Given the description of an element on the screen output the (x, y) to click on. 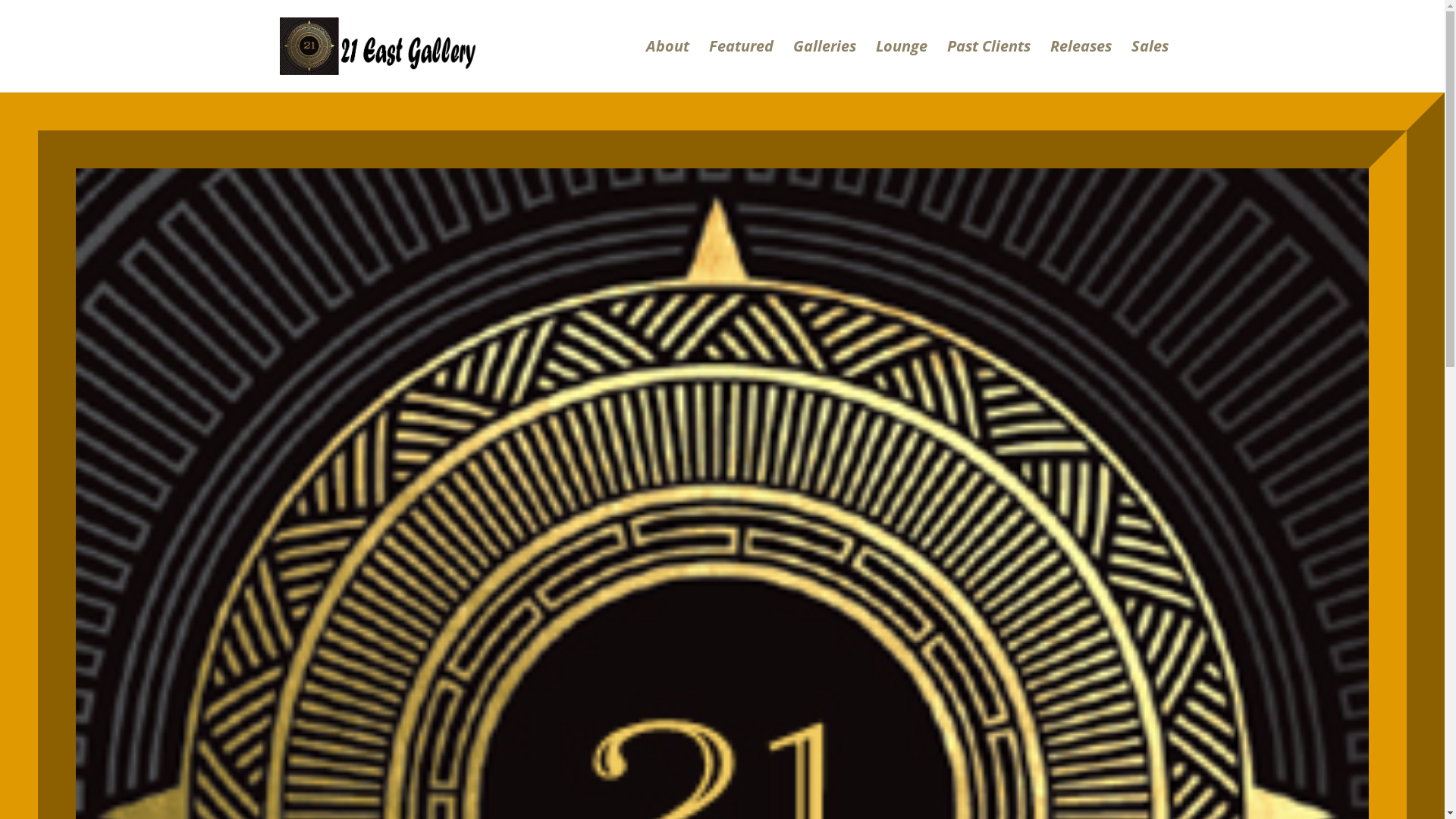
About Element type: text (667, 66)
Releases Element type: text (1079, 66)
Sales Element type: text (1149, 66)
Galleries Element type: text (824, 66)
Past Clients Element type: text (987, 66)
Lounge Element type: text (900, 66)
Featured Element type: text (740, 66)
